Given the description of an element on the screen output the (x, y) to click on. 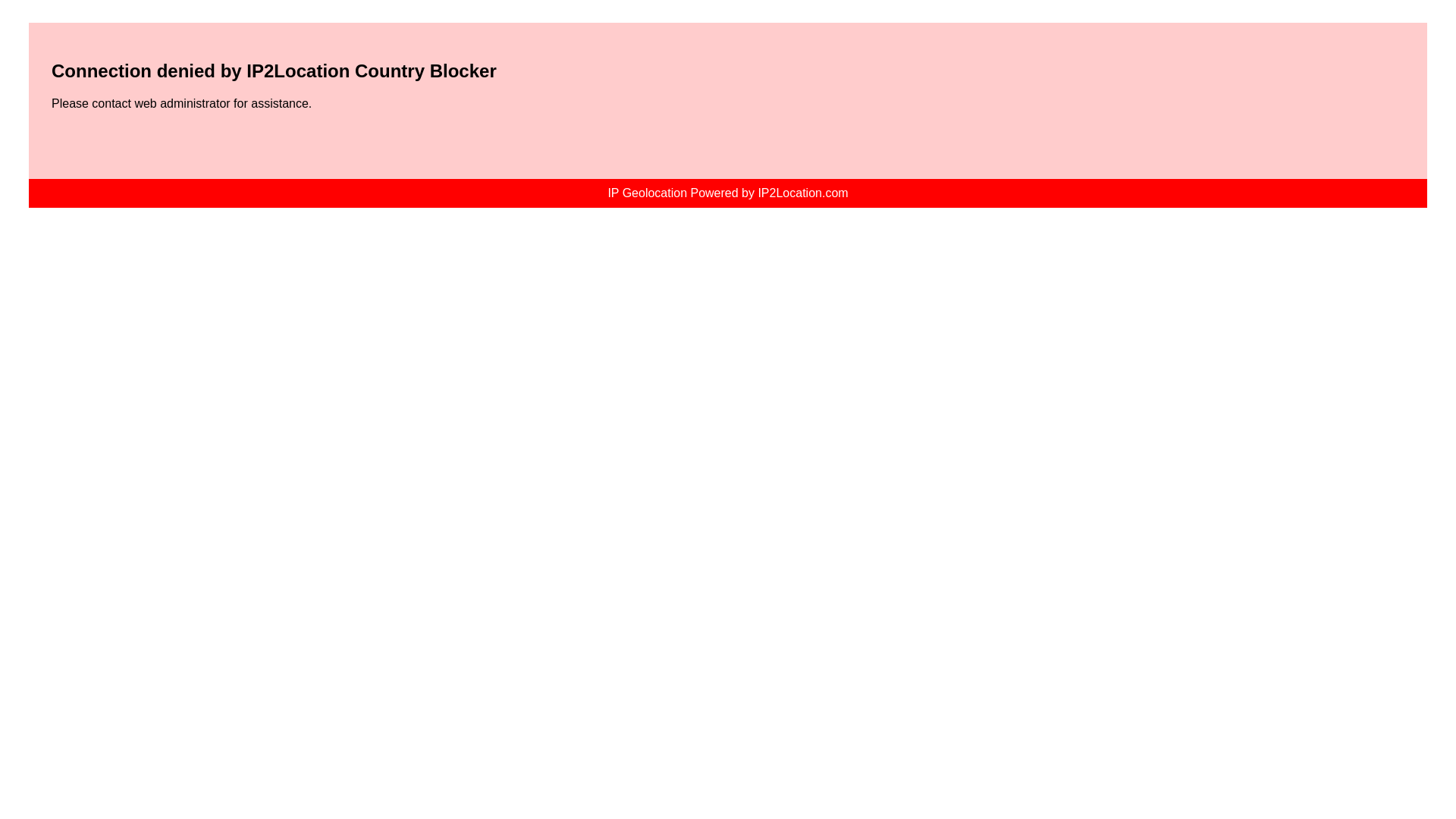
IP Geolocation Powered by IP2Location.com Element type: text (727, 192)
